Given the description of an element on the screen output the (x, y) to click on. 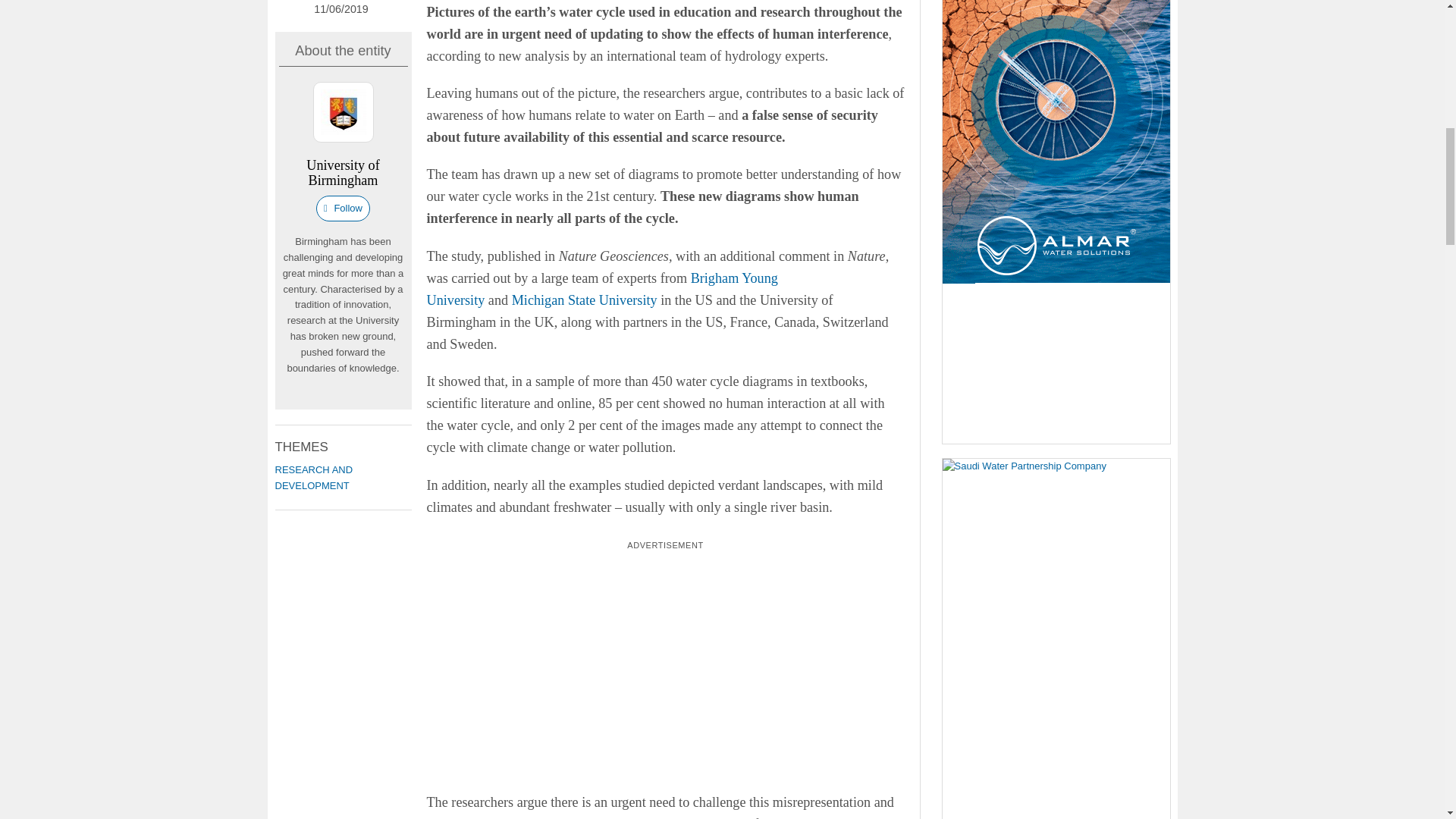
View University of Birmingham 's channel on Youtube (342, 396)
View University of Birmingham 's profile on Facebook (321, 396)
View University of Birmingham 's profile on Twitter (298, 396)
View University of Birmingham 's website (374, 396)
